Given the description of an element on the screen output the (x, y) to click on. 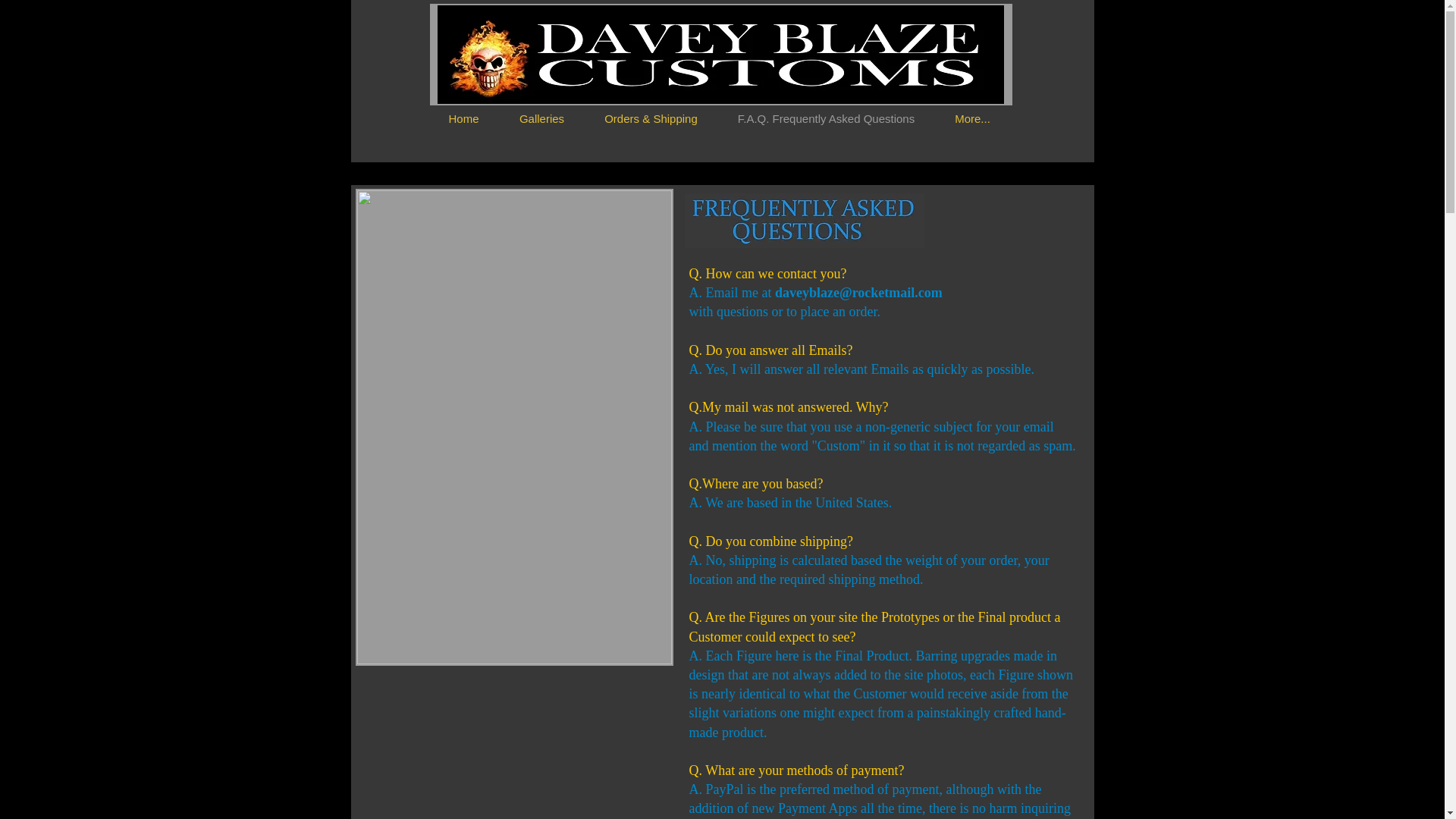
Home (463, 118)
Galleries (541, 118)
F.A.Q. Frequently Asked Questions (825, 118)
